Given the description of an element on the screen output the (x, y) to click on. 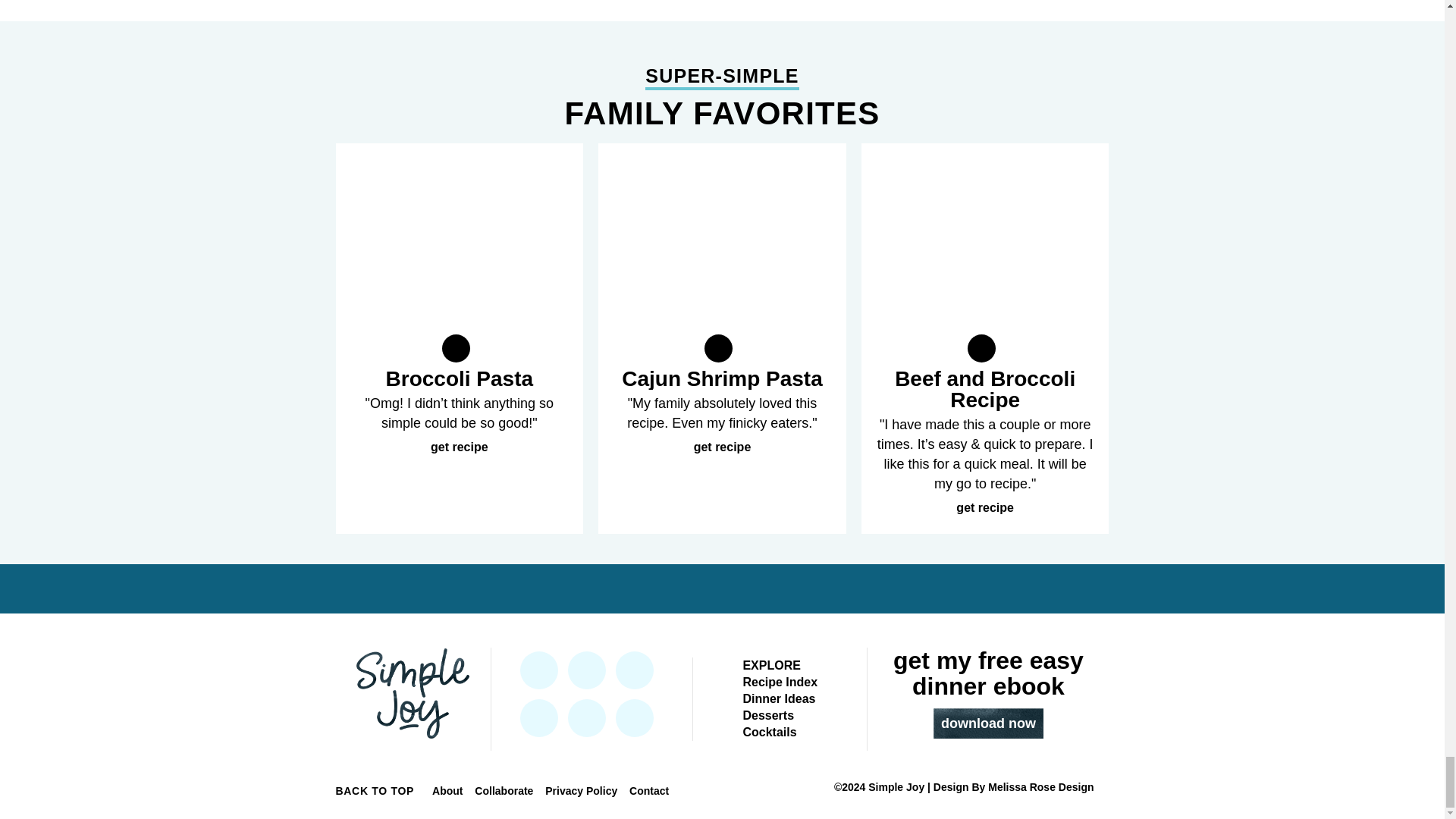
Cocktails (769, 731)
Recipe Index (779, 681)
Dinner Ideas (778, 698)
Desserts (767, 715)
